Given the description of an element on the screen output the (x, y) to click on. 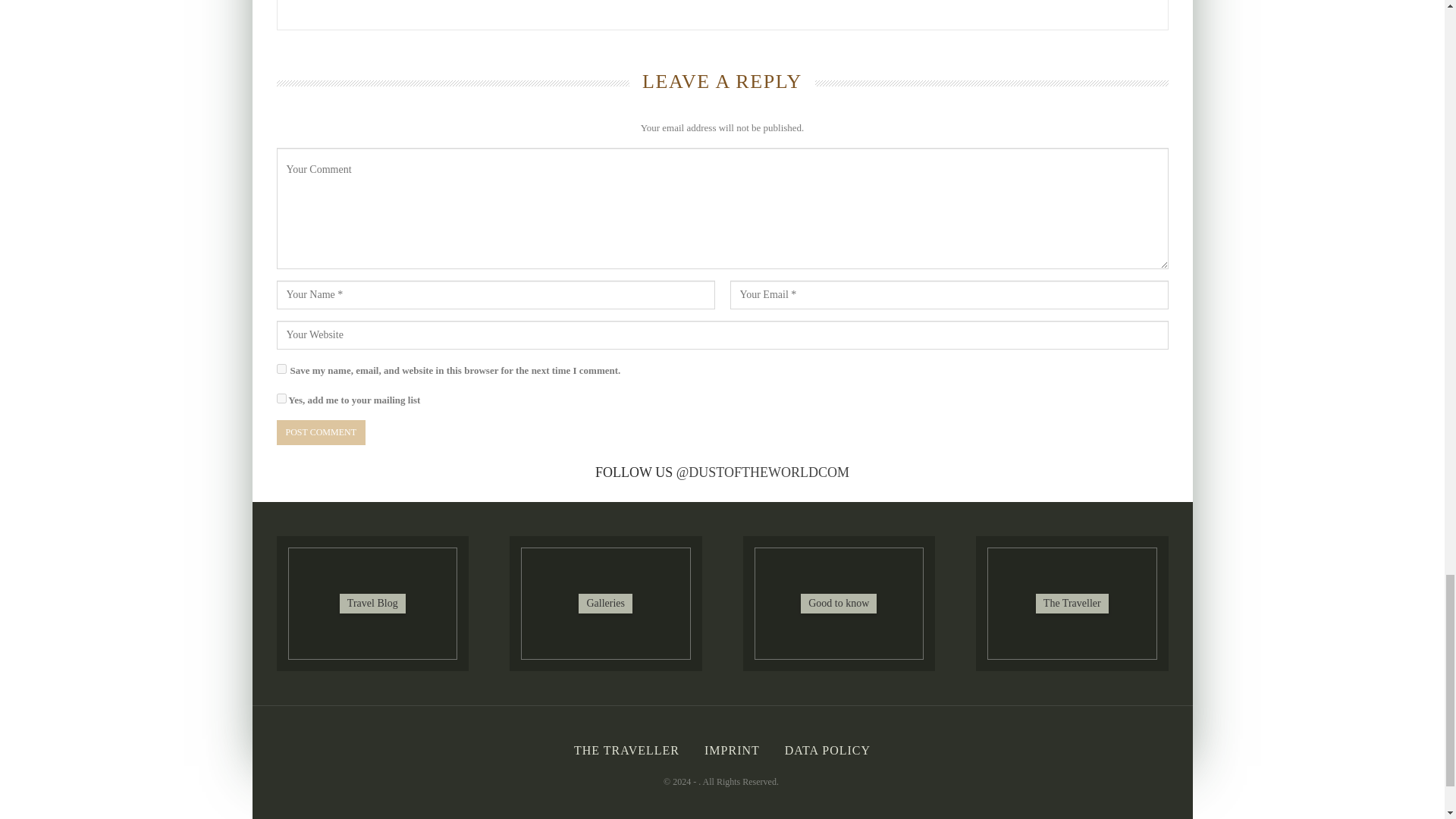
yes (280, 368)
1 (280, 398)
Post Comment (320, 432)
